Given the description of an element on the screen output the (x, y) to click on. 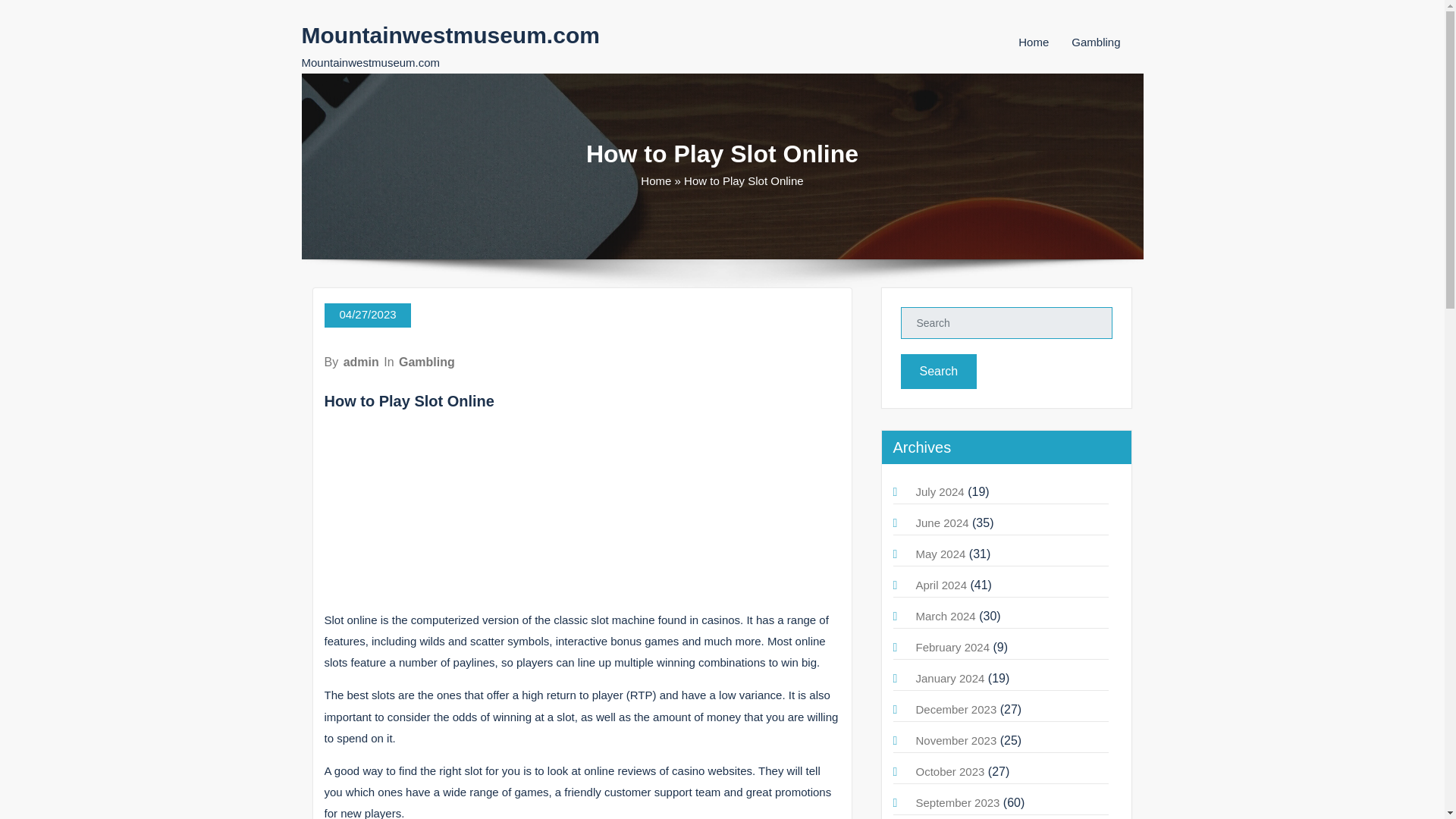
December 2023 (956, 708)
Gambling (427, 361)
February 2024 (952, 646)
July 2024 (939, 491)
November 2023 (956, 739)
May 2024 (940, 553)
Search (938, 371)
April 2024 (941, 584)
admin (361, 361)
June 2024 (942, 522)
March 2024 (945, 615)
January 2024 (950, 677)
October 2023 (950, 771)
Mountainwestmuseum.com (450, 34)
September 2023 (957, 802)
